Given the description of an element on the screen output the (x, y) to click on. 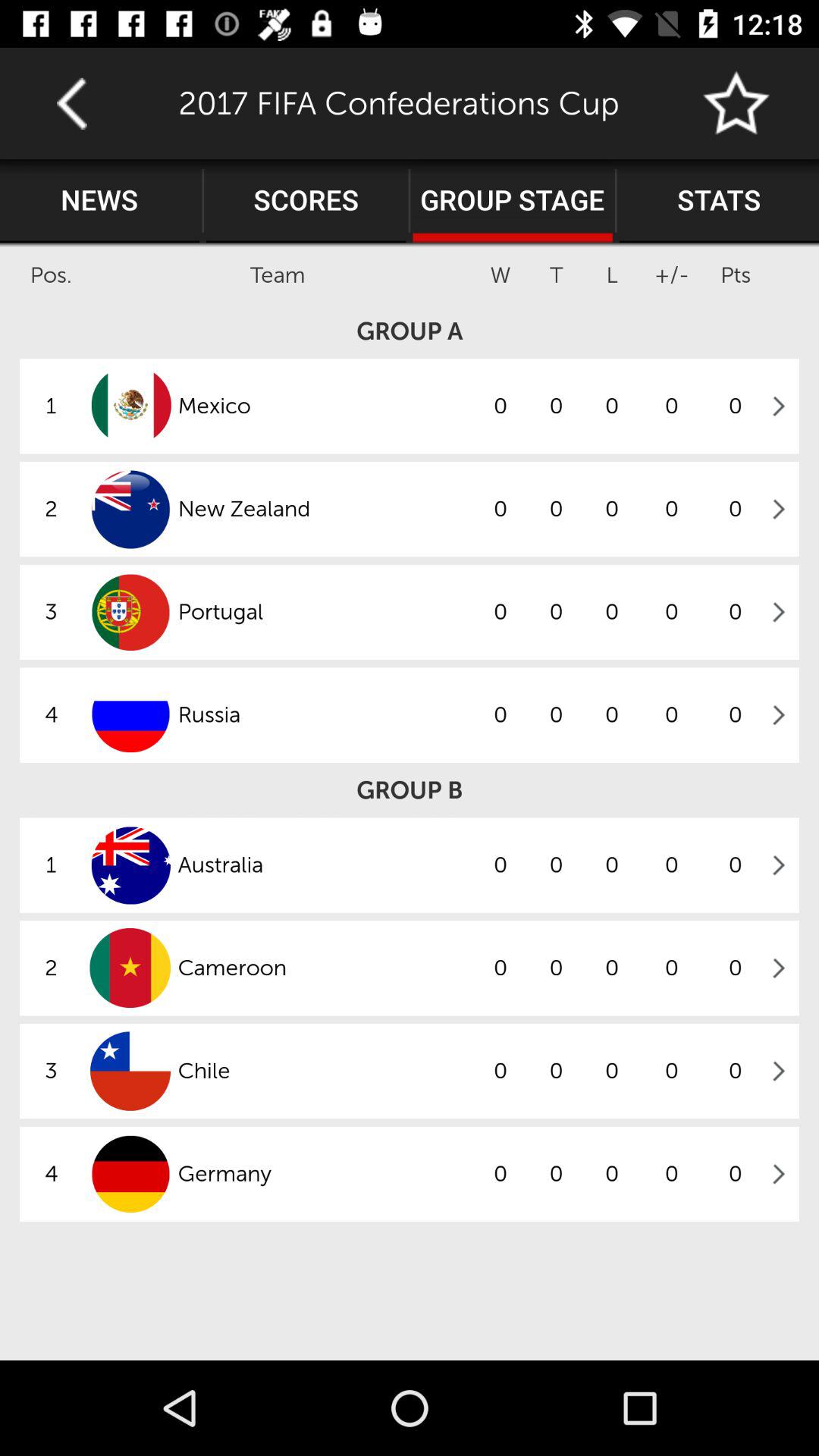
open the mexico icon (325, 405)
